Given the description of an element on the screen output the (x, y) to click on. 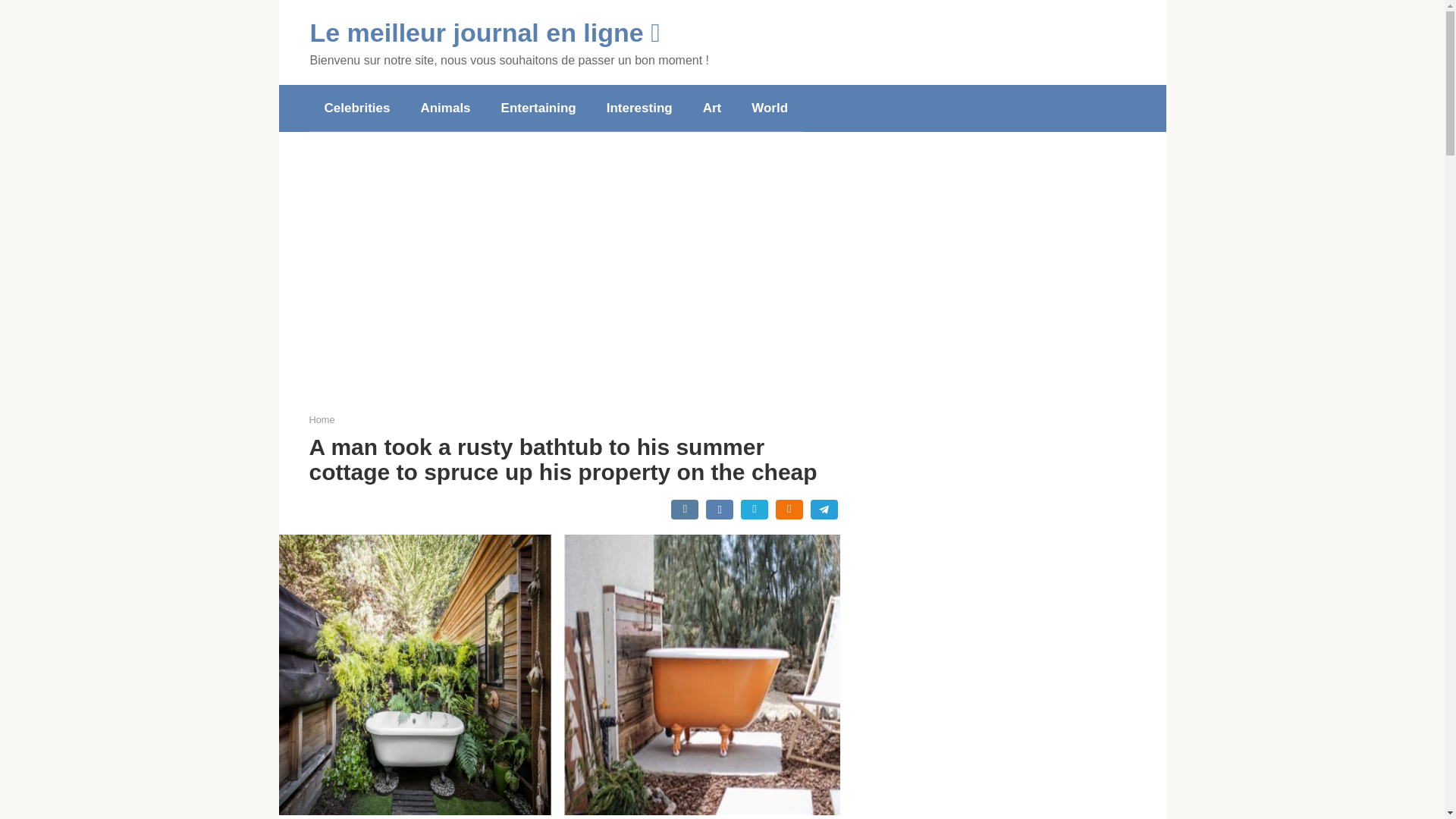
Interesting (639, 108)
Art (711, 108)
Celebrities (357, 108)
Home (321, 419)
Animals (444, 108)
Entertaining (538, 108)
World (769, 108)
